Given the description of an element on the screen output the (x, y) to click on. 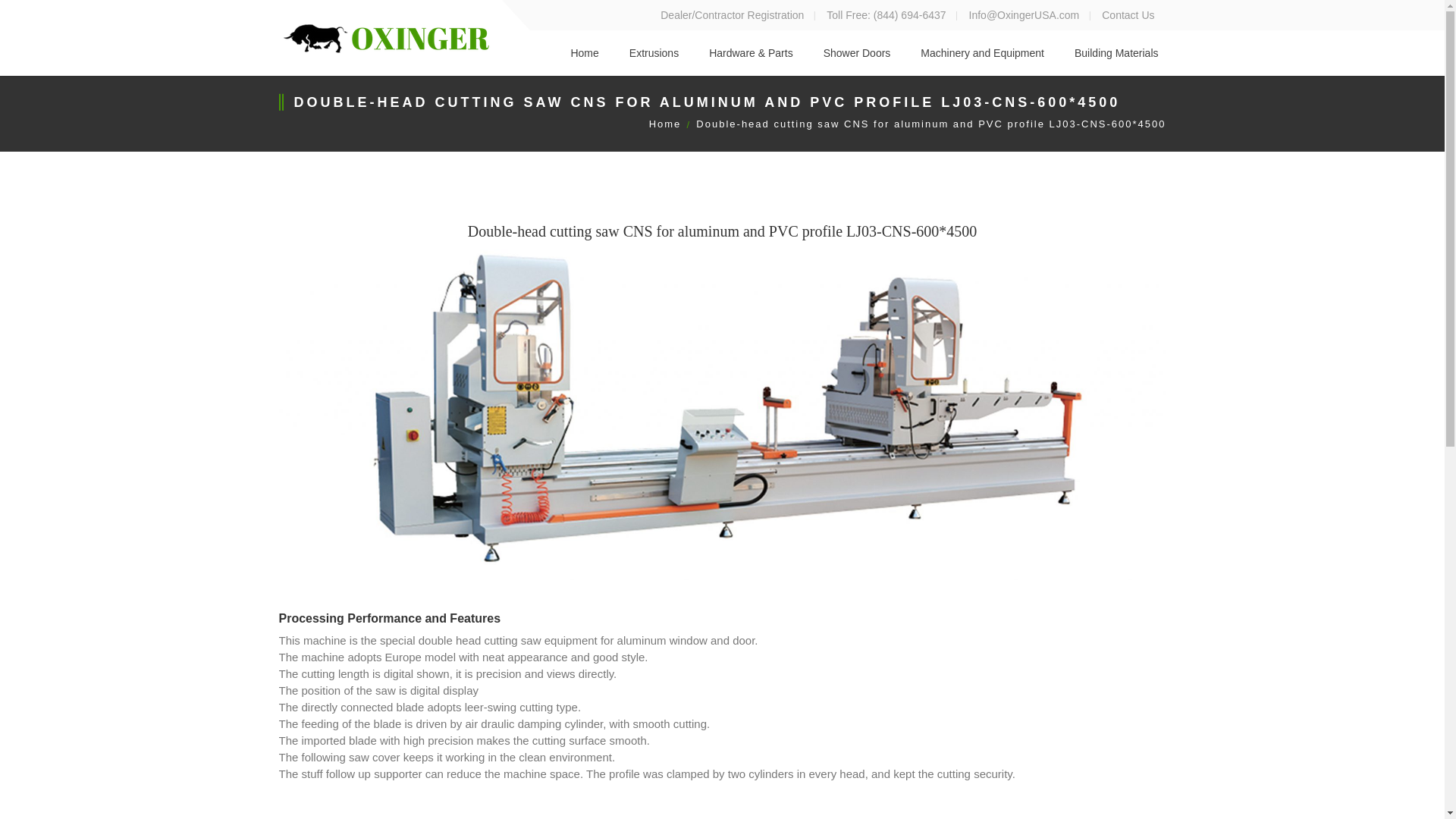
Contact Us (1128, 15)
Shower Doors (856, 52)
Home (583, 52)
Machinery and Equipment (981, 52)
Oxinger (387, 38)
Extrusions (653, 52)
Home (665, 123)
Building Materials (1116, 52)
